Given the description of an element on the screen output the (x, y) to click on. 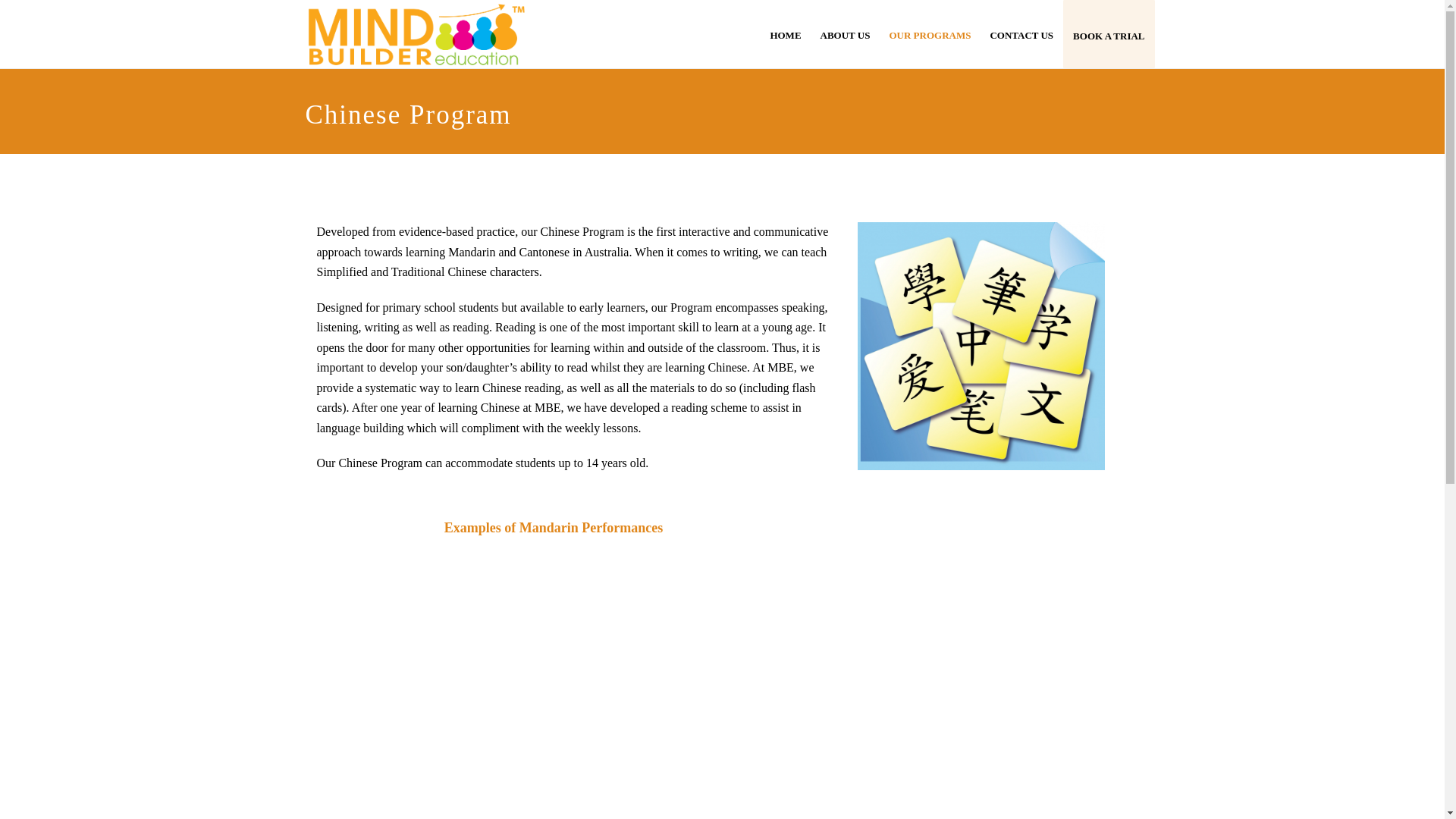
BOOK A TRIAL Element type: text (1108, 34)
OUR PROGRAMS Element type: text (929, 34)
HOME Element type: text (784, 34)
ABOUT US Element type: text (845, 34)
chinese Element type: hover (981, 346)
CONTACT US Element type: text (1021, 34)
